Given the description of an element on the screen output the (x, y) to click on. 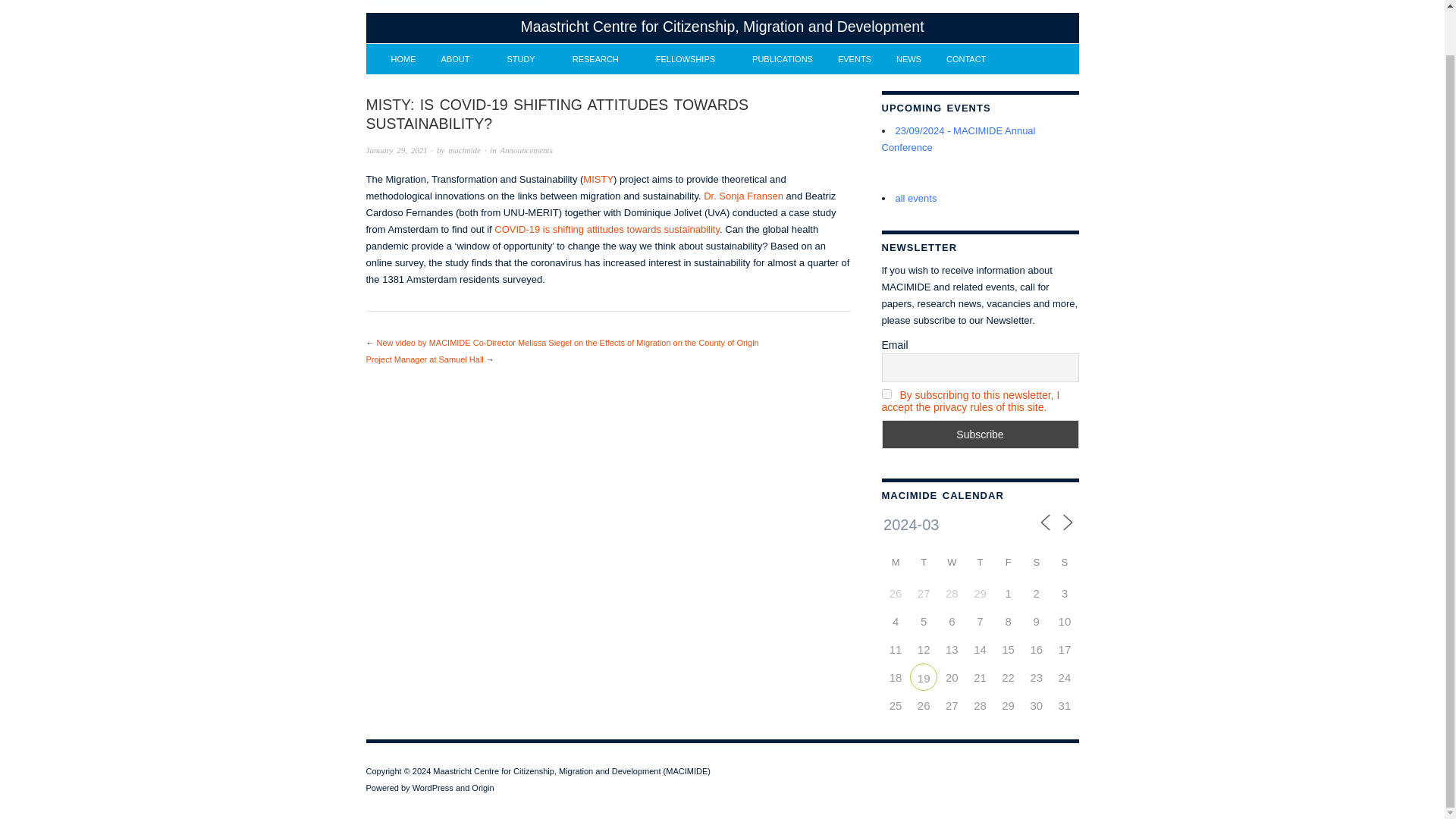
CONTACT (965, 59)
January 29, 2021 (395, 149)
EVENTS (854, 59)
on (885, 393)
HOME (403, 59)
ABOUT (461, 59)
Announcements (526, 149)
STUDY (526, 59)
Maastricht University (454, 2)
FELLOWSHIPS (691, 59)
MISTY (597, 179)
COVID-19 is shifting attitudes towards sustainability (607, 229)
macimide (464, 149)
all events (915, 197)
